Given the description of an element on the screen output the (x, y) to click on. 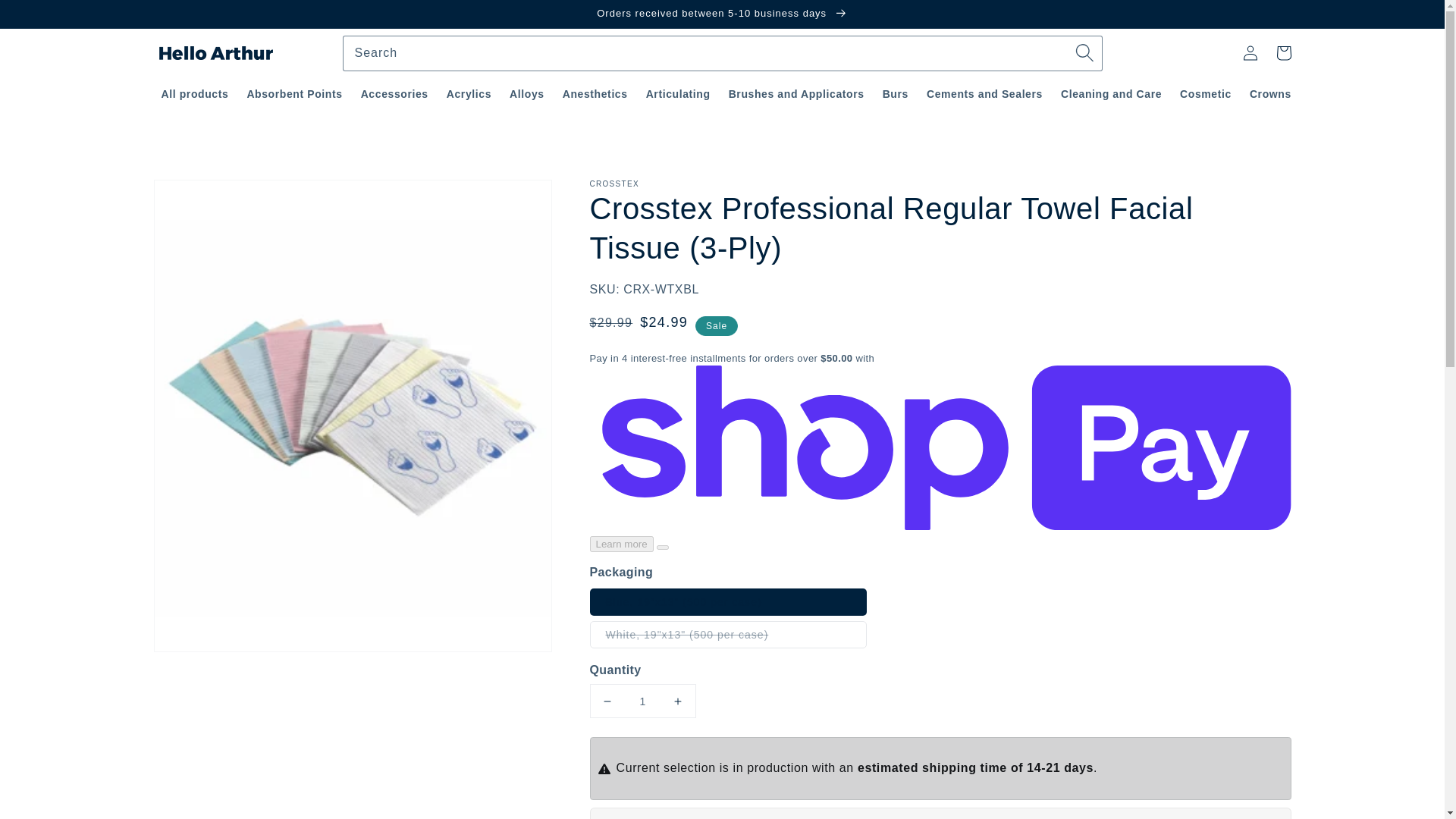
Skip to content (45, 16)
1 (642, 700)
